Given the description of an element on the screen output the (x, y) to click on. 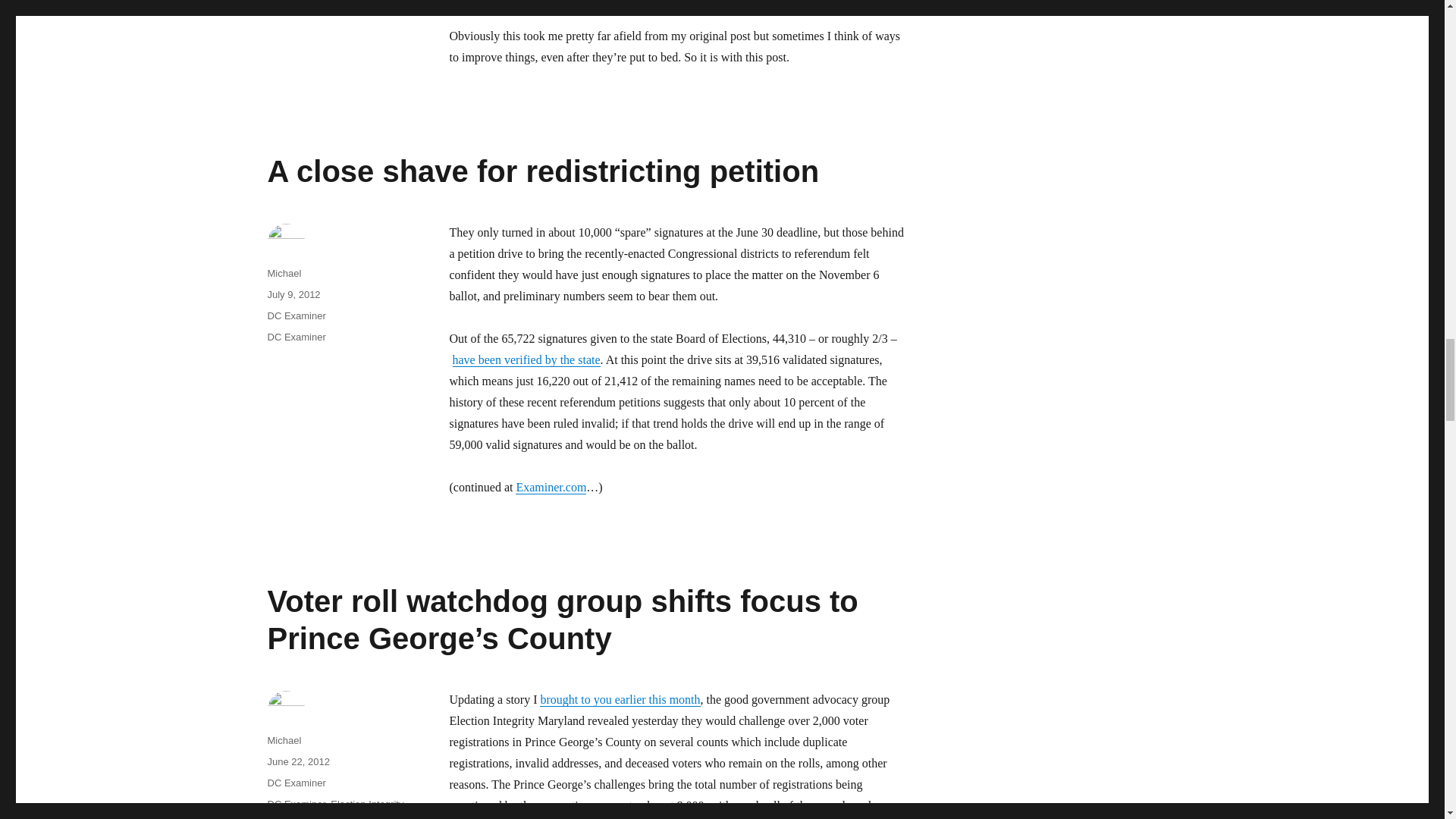
Michael (283, 273)
A close shave for redistricting petition (542, 171)
have been verified by the state (525, 359)
July 9, 2012 (293, 294)
Examiner.com (550, 486)
